Given the description of an element on the screen output the (x, y) to click on. 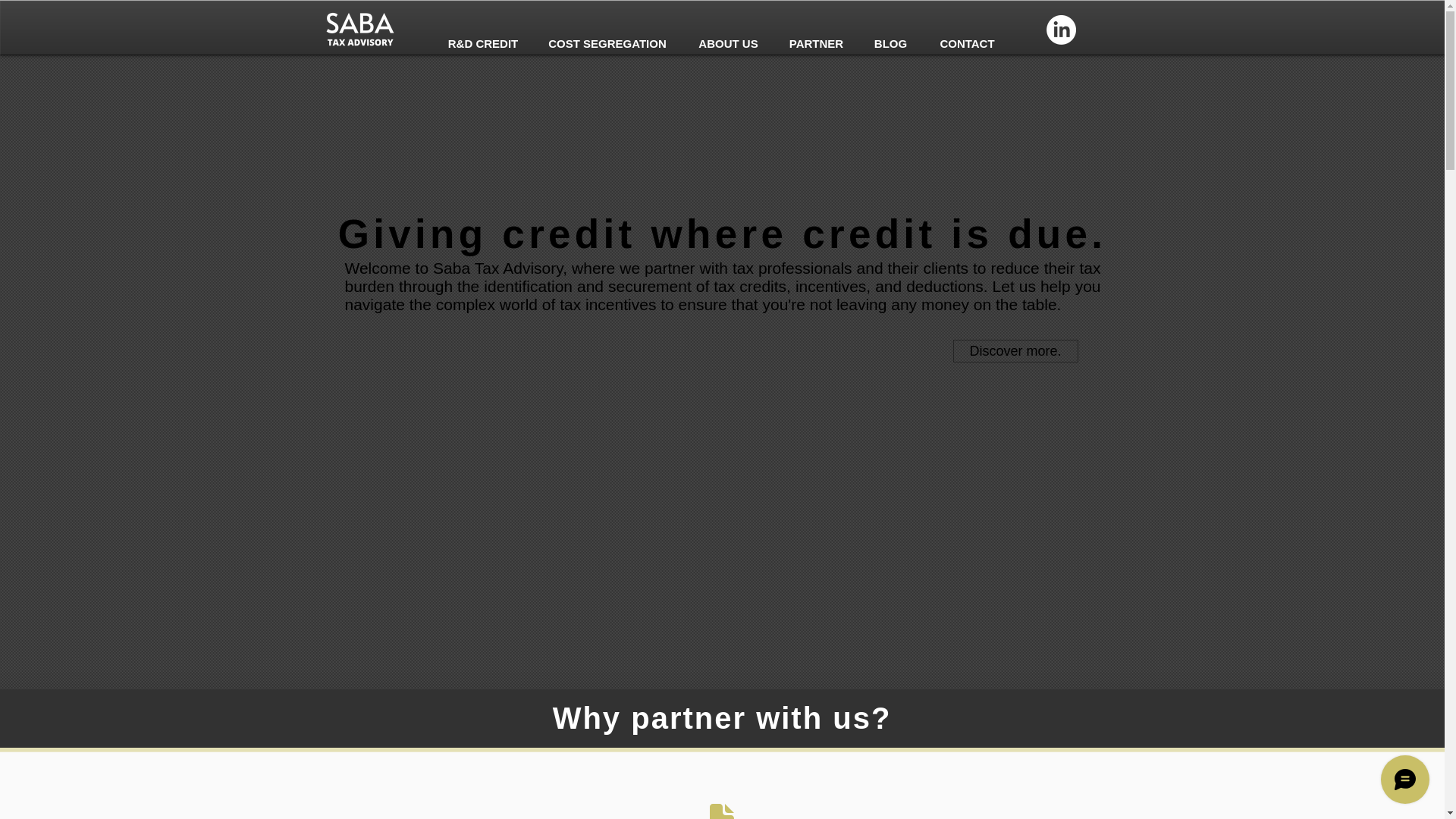
Discover more. (1014, 350)
PARTNER (816, 43)
BLOG (891, 43)
ABOUT US (728, 43)
CONTACT (967, 43)
COST SEGREGATION (606, 43)
